Given the description of an element on the screen output the (x, y) to click on. 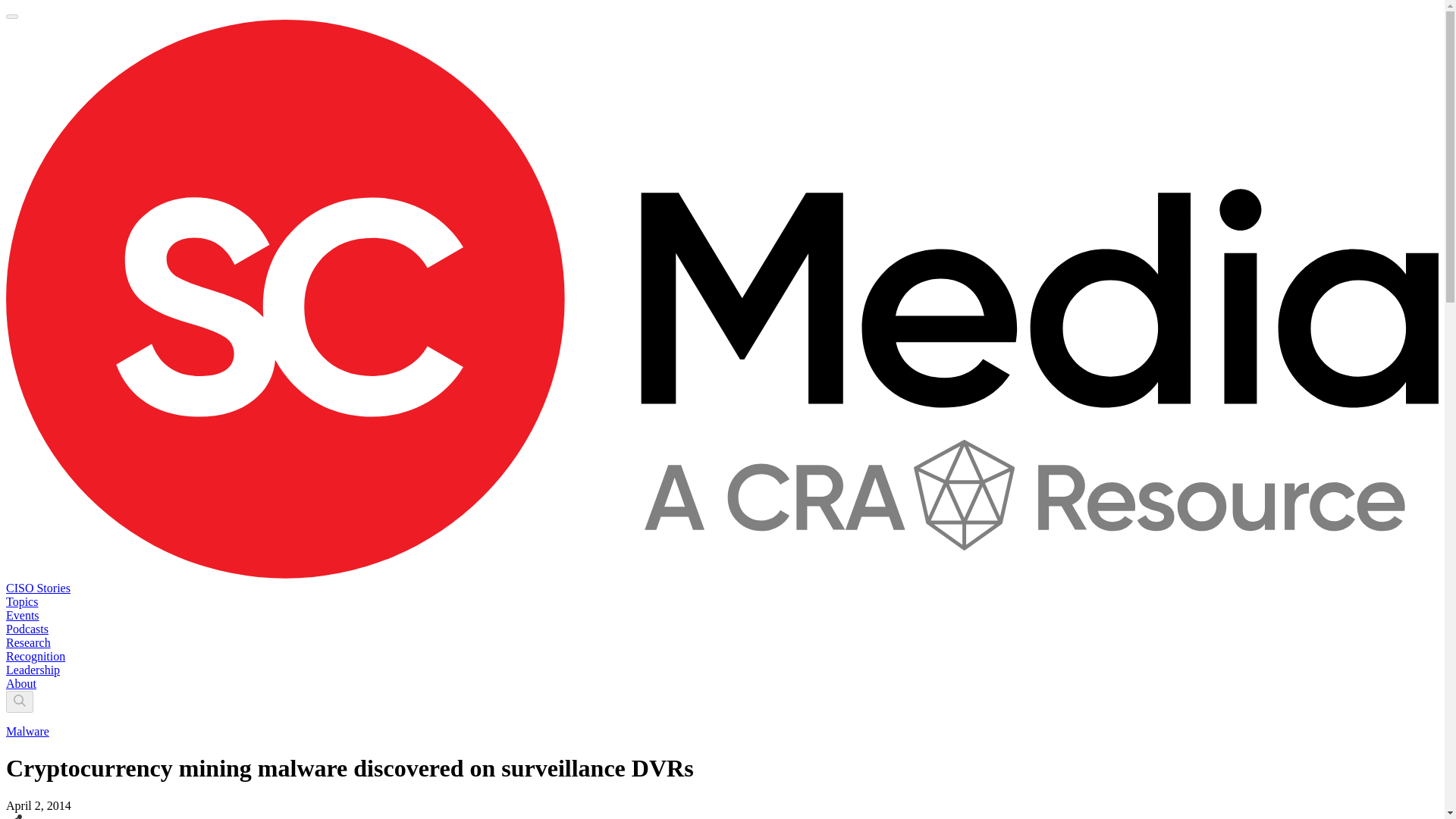
About (20, 683)
Leadership (32, 669)
CISO Stories (37, 587)
Podcasts (26, 628)
Topics (21, 601)
Malware (27, 730)
Research (27, 642)
Events (22, 615)
Recognition (35, 656)
